Given the description of an element on the screen output the (x, y) to click on. 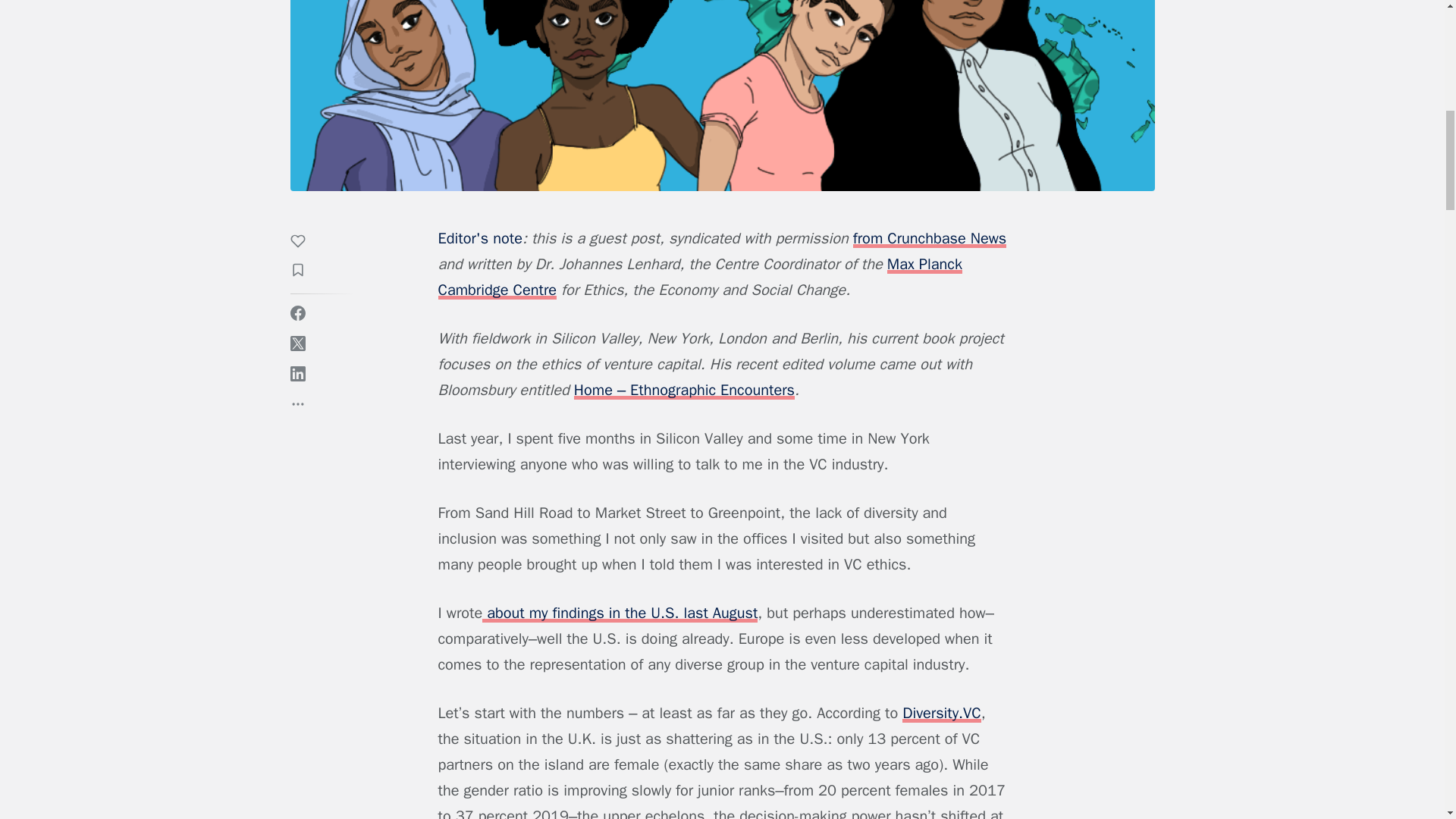
Share on Linkedin (296, 373)
Share on Facebook (296, 313)
Share on Twitter (296, 343)
Like (304, 243)
Add to collection (304, 271)
